Given the description of an element on the screen output the (x, y) to click on. 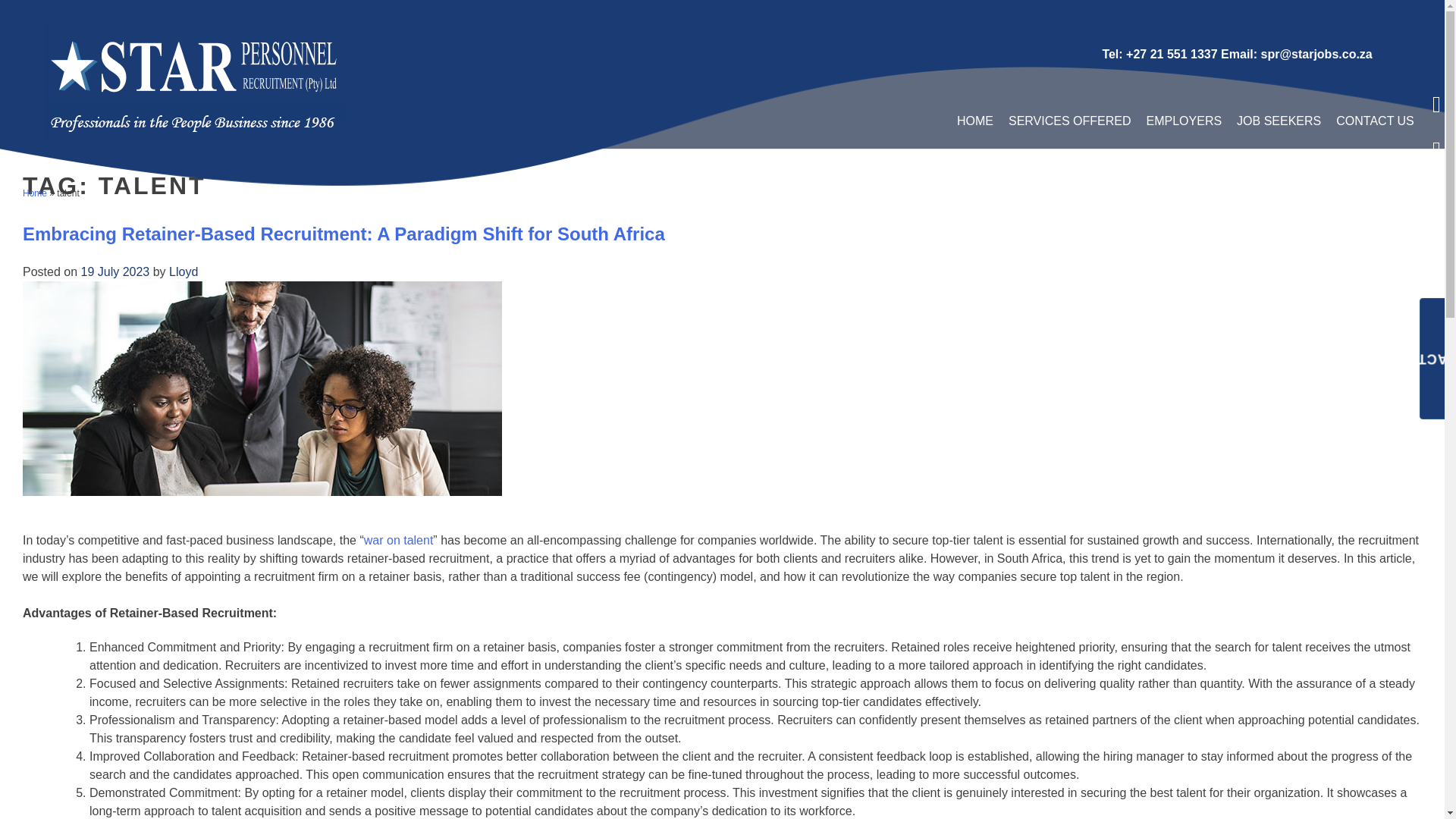
HOME (975, 121)
EMPLOYERS (1184, 121)
SERVICES OFFERED (1069, 121)
war on talent (398, 540)
Lloyd (183, 271)
19 July 2023 (114, 271)
Star Personnel Recruitment (97, 165)
Home (34, 193)
CONTACT US (1374, 121)
JOB SEEKERS (1277, 121)
